Given the description of an element on the screen output the (x, y) to click on. 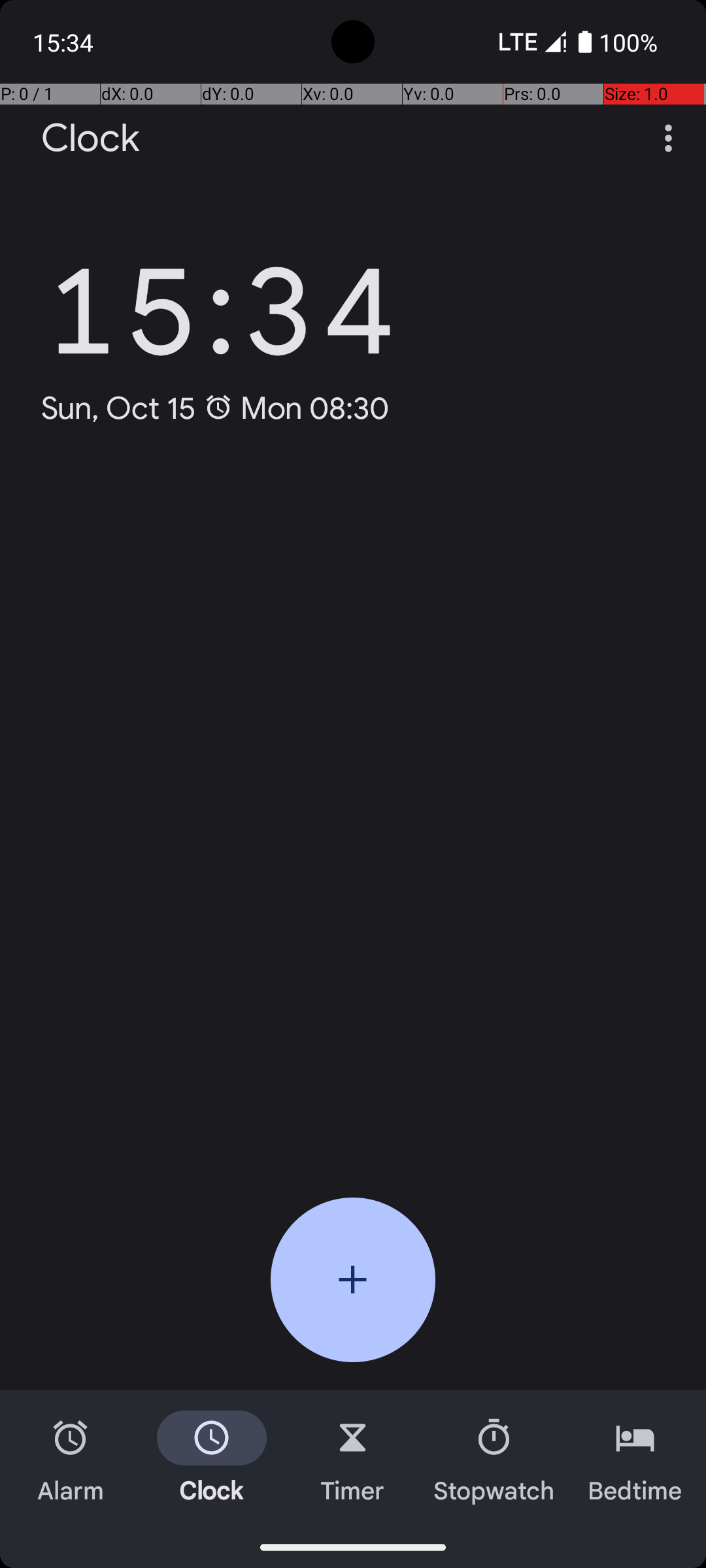
Sun, Oct 15 A Mon 08:30 Element type: android.widget.TextView (215, 407)
